Given the description of an element on the screen output the (x, y) to click on. 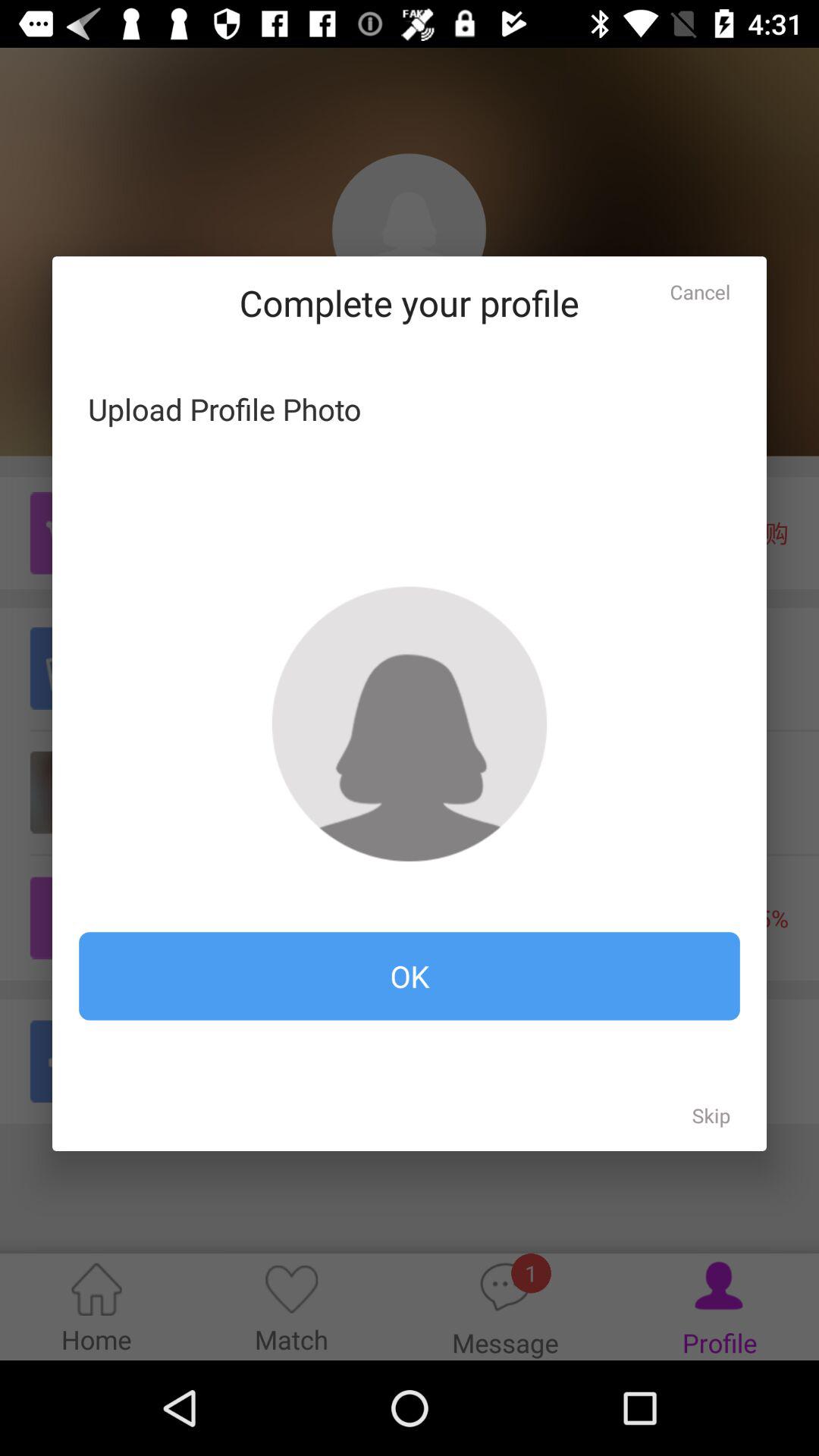
press the item at the center (409, 723)
